Given the description of an element on the screen output the (x, y) to click on. 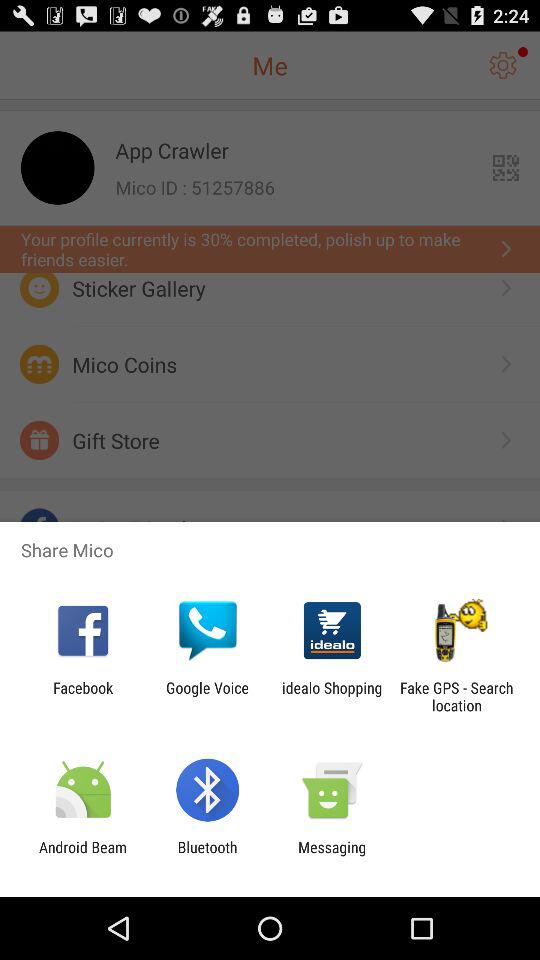
scroll to idealo shopping app (331, 696)
